Given the description of an element on the screen output the (x, y) to click on. 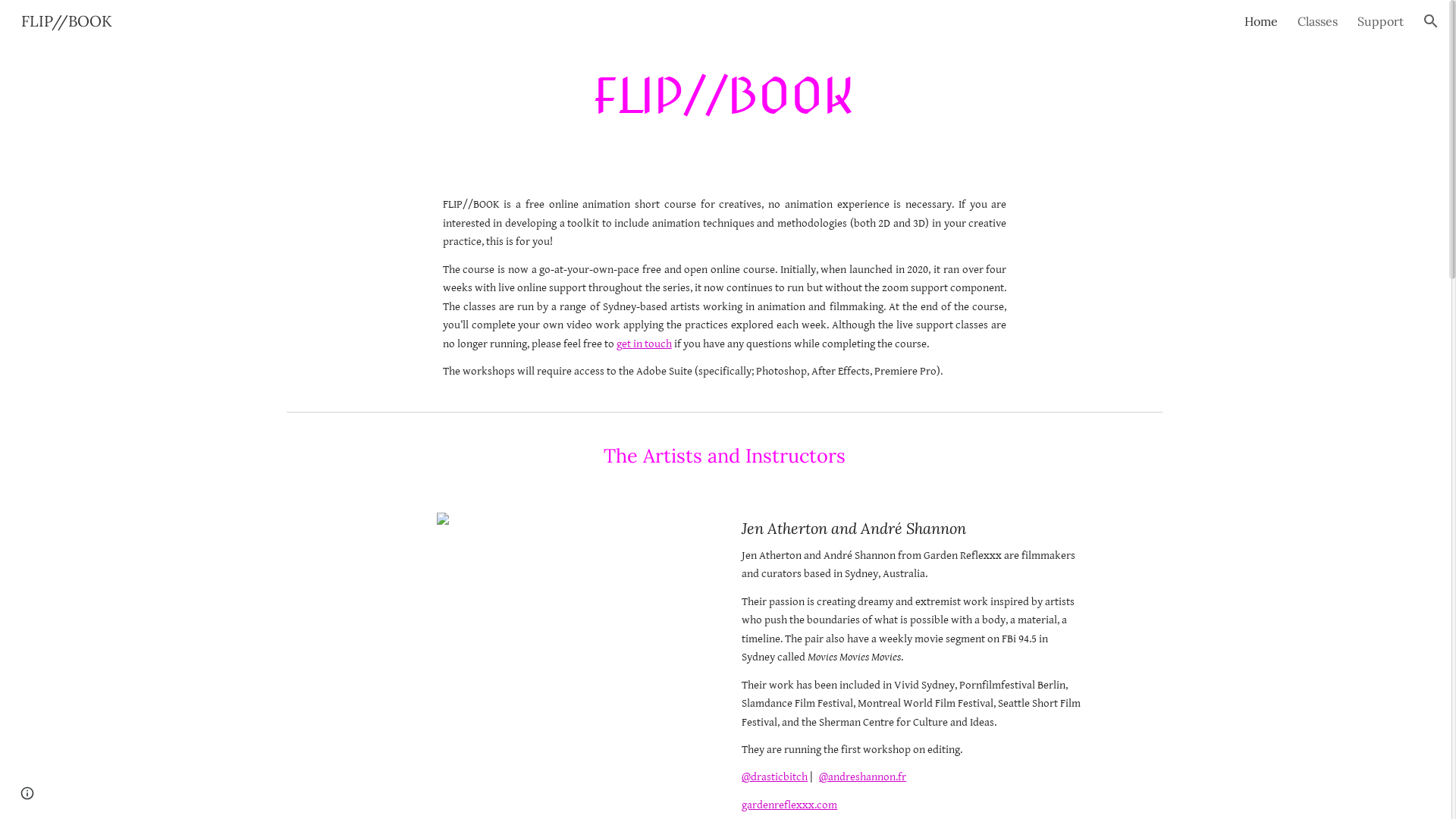
FLIP//BOOK Element type: text (66, 18)
gardenreflexxx.com Element type: text (789, 804)
Home Element type: text (1260, 20)
@andreshannon.fr Element type: text (862, 776)
@drasticbitch Element type: text (774, 776)
Classes Element type: text (1317, 20)
Support Element type: text (1380, 20)
get in touch Element type: text (643, 343)
